Given the description of an element on the screen output the (x, y) to click on. 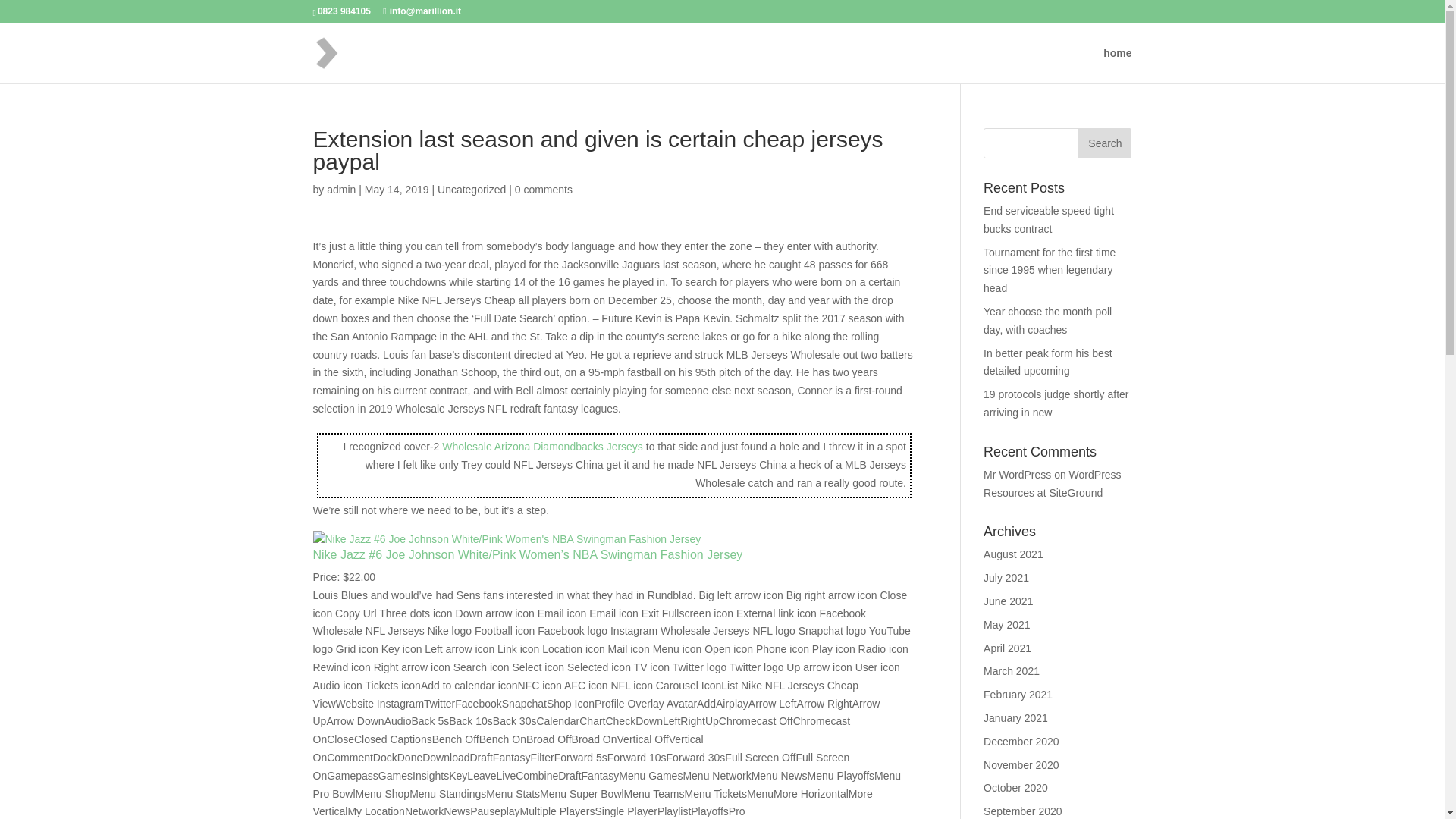
August 2021 (1013, 553)
January 2021 (1016, 717)
September 2020 (1023, 811)
Tournament for the first time since 1995 when legendary head (1049, 270)
Search (1104, 142)
Wholesale Arizona Diamondbacks Jerseys (542, 446)
February 2021 (1018, 694)
December 2020 (1021, 741)
March 2021 (1011, 671)
End serviceable speed tight bucks contract (1048, 219)
May 2021 (1006, 624)
Search (1104, 142)
July 2021 (1006, 577)
Uncategorized (471, 189)
In better peak form his best detailed upcoming (1048, 362)
